Given the description of an element on the screen output the (x, y) to click on. 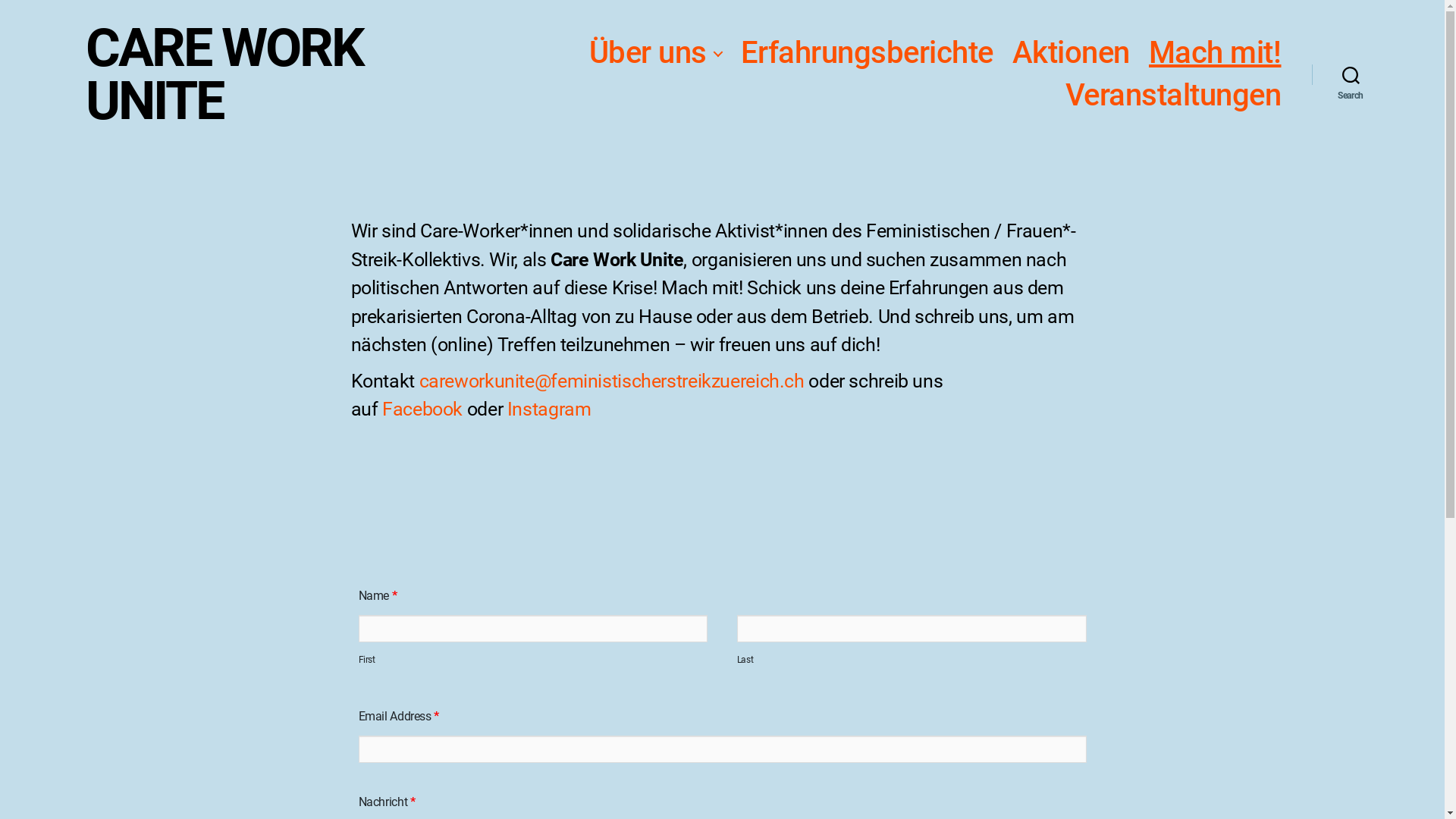
Mach mit! Element type: text (1214, 52)
Facebook Element type: text (422, 409)
Erfahrungsberichte Element type: text (866, 52)
careworkunite@feministischerstreikzuereich.ch Element type: text (610, 381)
Instagram Element type: text (549, 409)
Veranstaltungen Element type: text (1173, 95)
Search Element type: text (1350, 74)
Aktionen Element type: text (1070, 52)
CARE WORK UNITE Element type: text (269, 74)
